Given the description of an element on the screen output the (x, y) to click on. 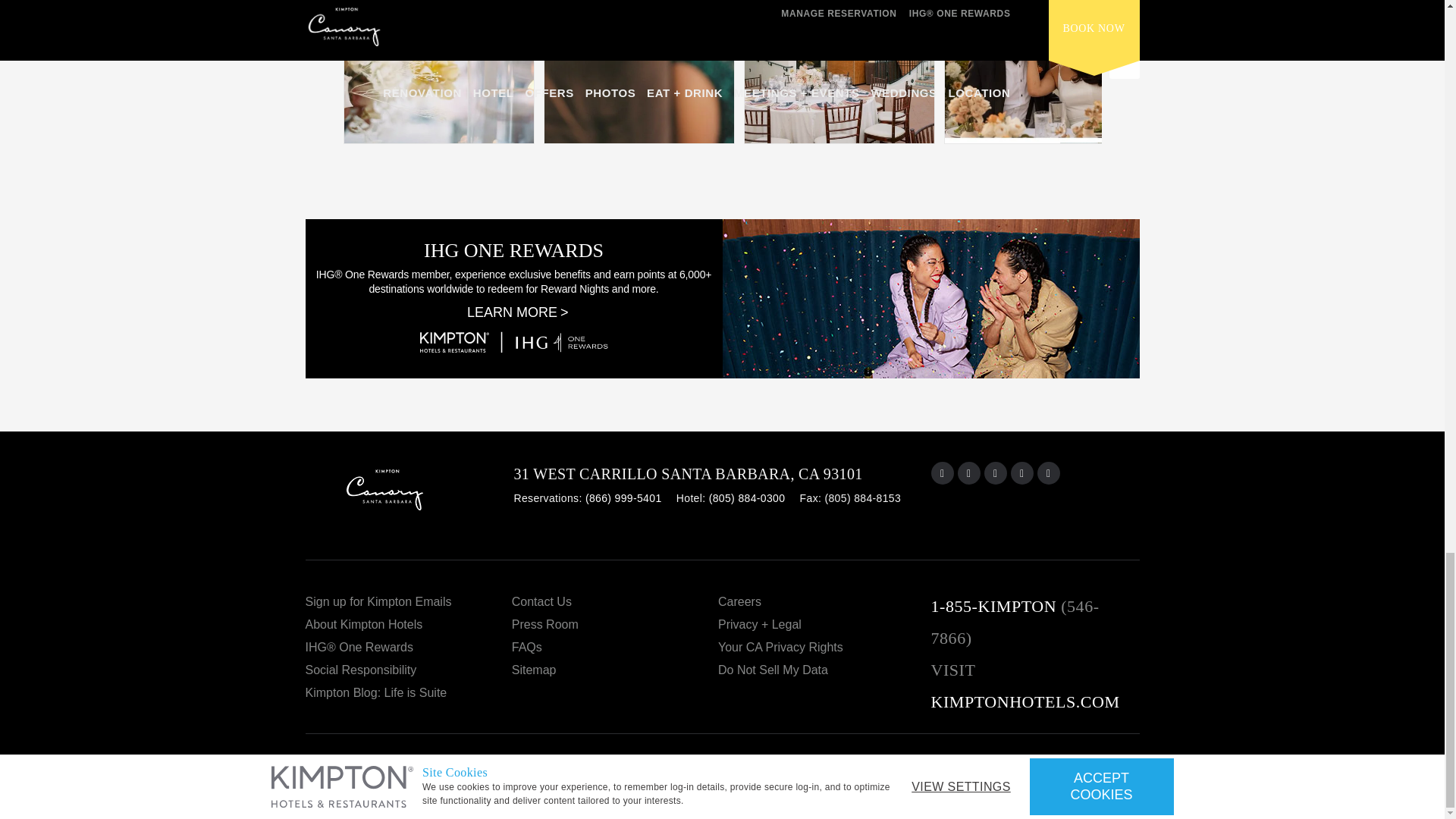
Translate this page (1107, 775)
Home (408, 495)
Kimpton Canary Hotel on Instagram (942, 472)
Kimpton Canary Hotel on youtube (995, 472)
Kimpton Canary Hotel on Facebook (968, 472)
Kimpton Canary Hotel on Twitter (1047, 472)
Kimpton Canary Hotel on pinterest (1021, 472)
